Given the description of an element on the screen output the (x, y) to click on. 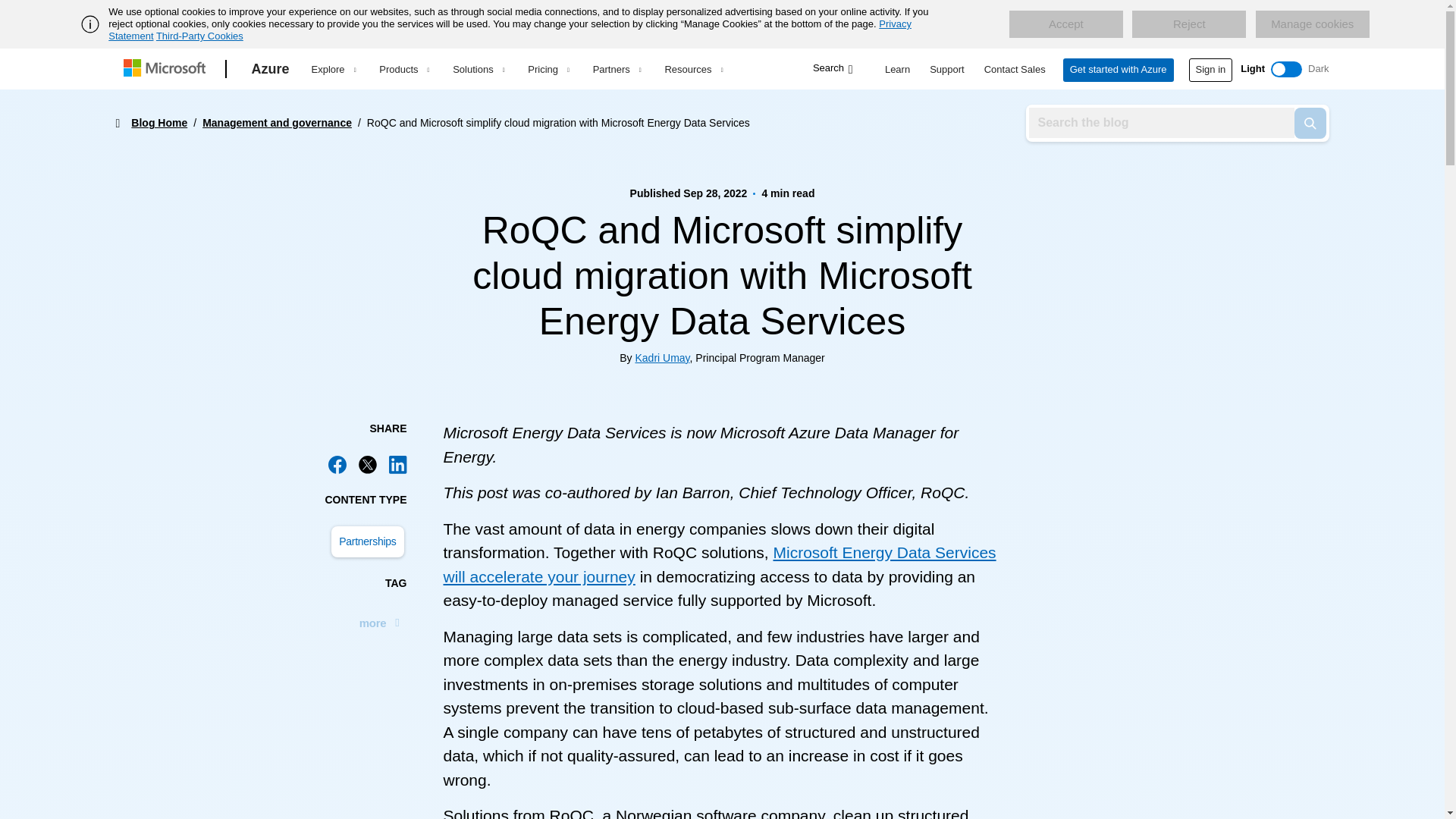
Azure (270, 69)
Microsoft (167, 69)
Reject (1189, 23)
Manage cookies (1312, 23)
Products (403, 69)
Third-Party Cookies (199, 35)
Explore (333, 69)
Privacy Statement (509, 29)
Accept (1065, 23)
